Given the description of an element on the screen output the (x, y) to click on. 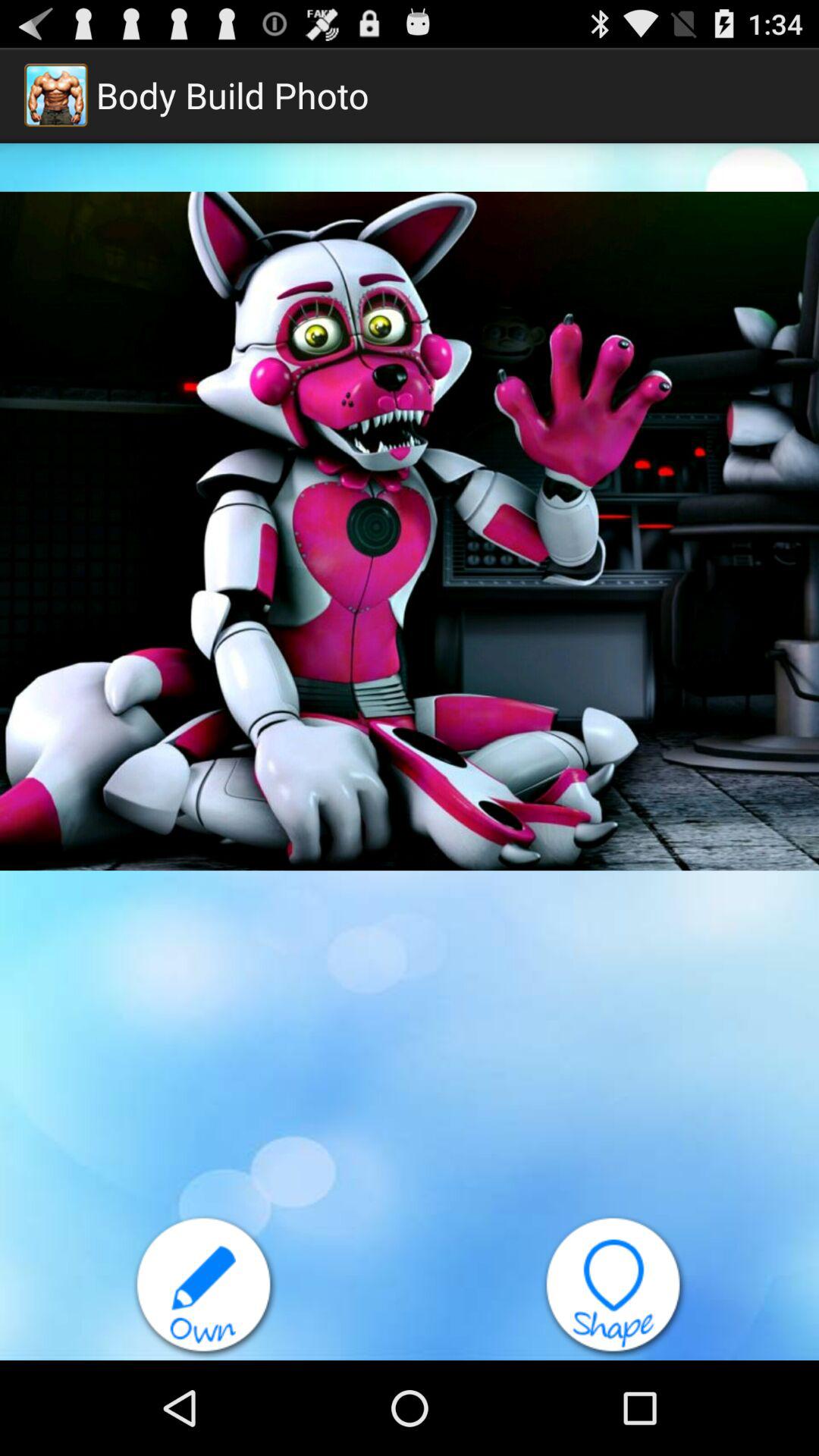
make your own style (204, 1287)
